Given the description of an element on the screen output the (x, y) to click on. 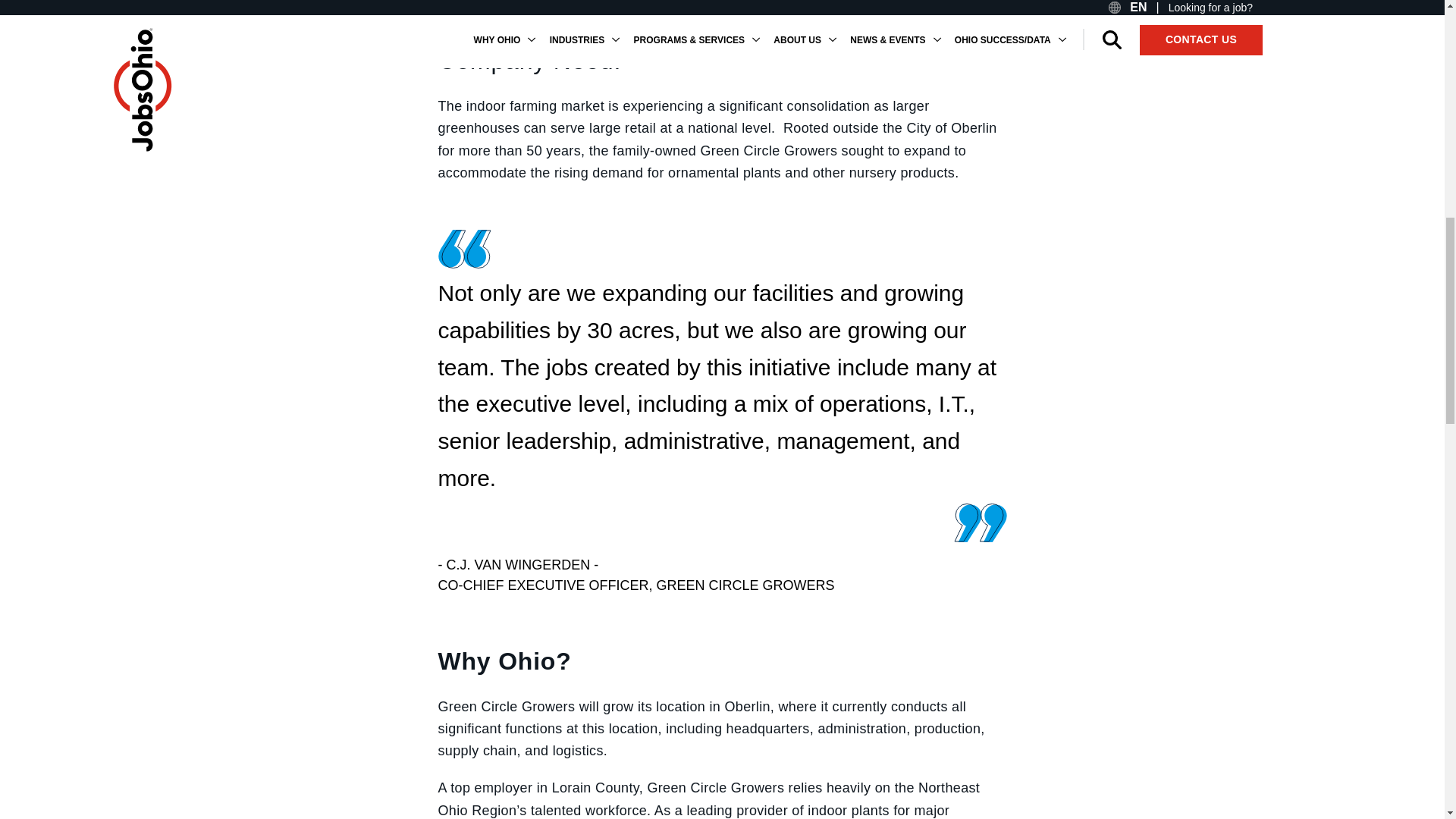
Why Ohio? (722, 660)
Company Need: (722, 60)
